Given the description of an element on the screen output the (x, y) to click on. 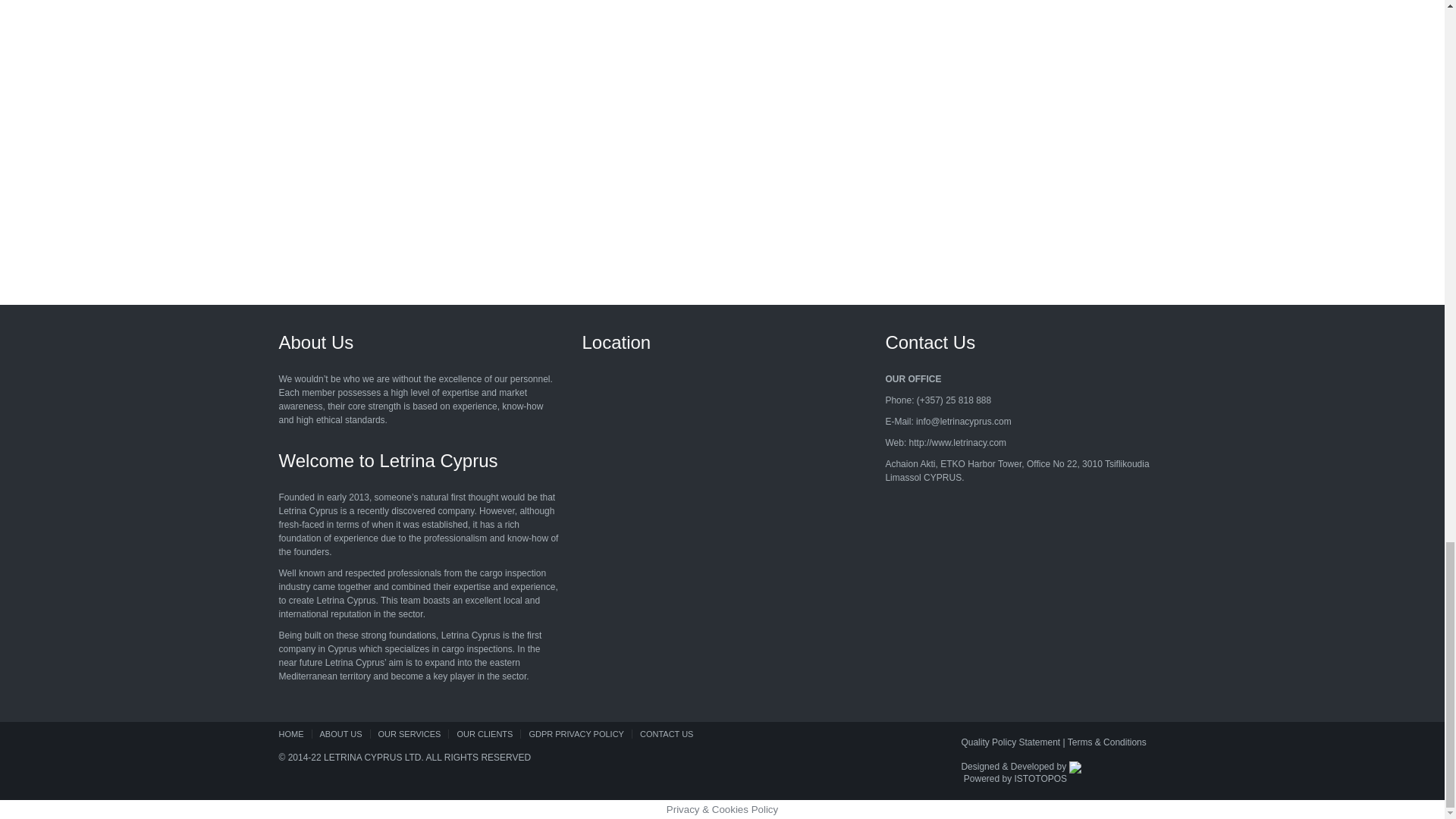
ABOUT US (340, 733)
HOME (295, 733)
